Given the description of an element on the screen output the (x, y) to click on. 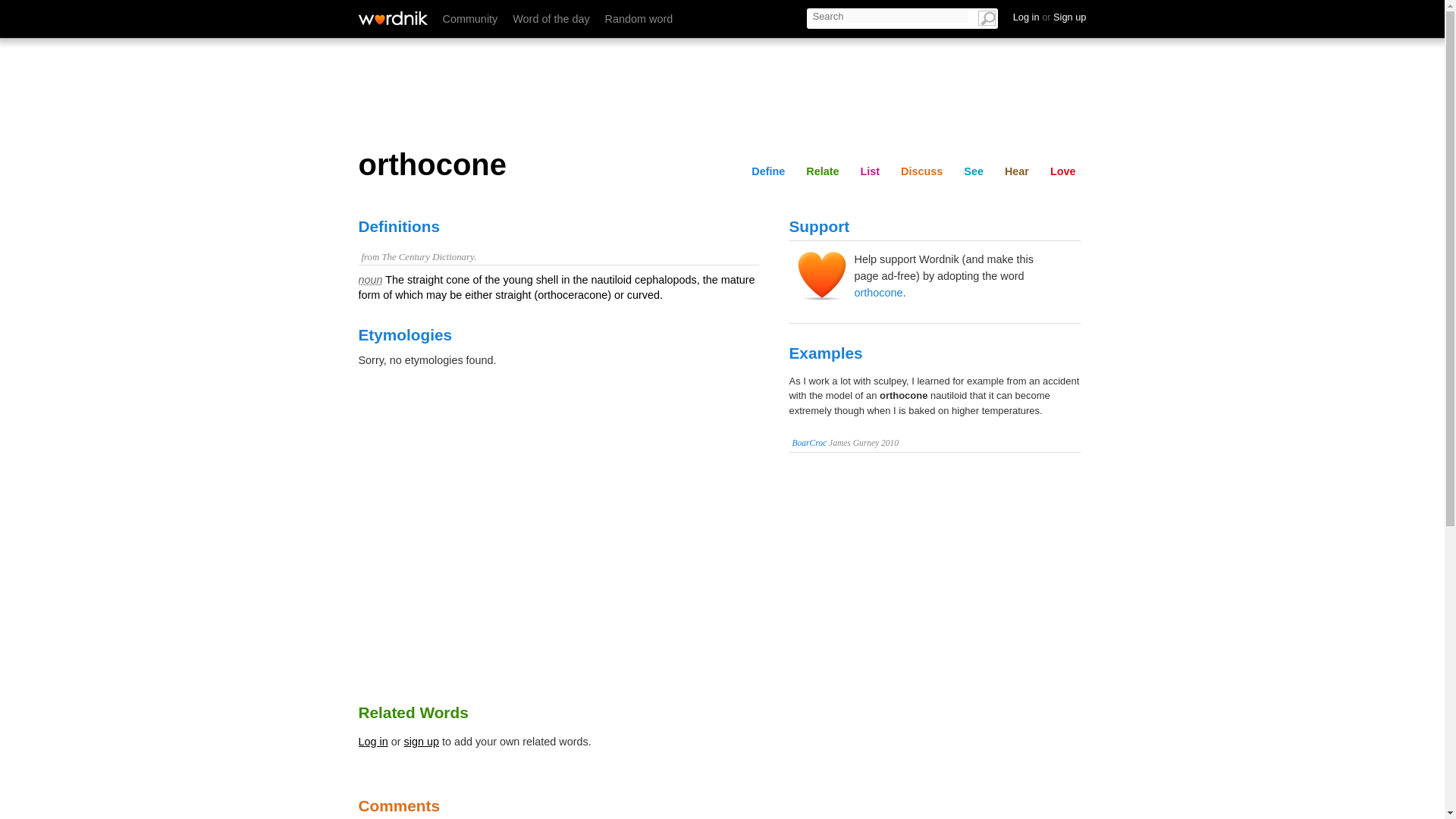
Hear (1016, 171)
sign up (421, 741)
Love (1062, 171)
orthocone (722, 164)
Relate (821, 171)
Community (469, 19)
partOfSpeech (369, 279)
Log in or Sign up (1049, 16)
Random word (638, 19)
List (907, 16)
